Given the description of an element on the screen output the (x, y) to click on. 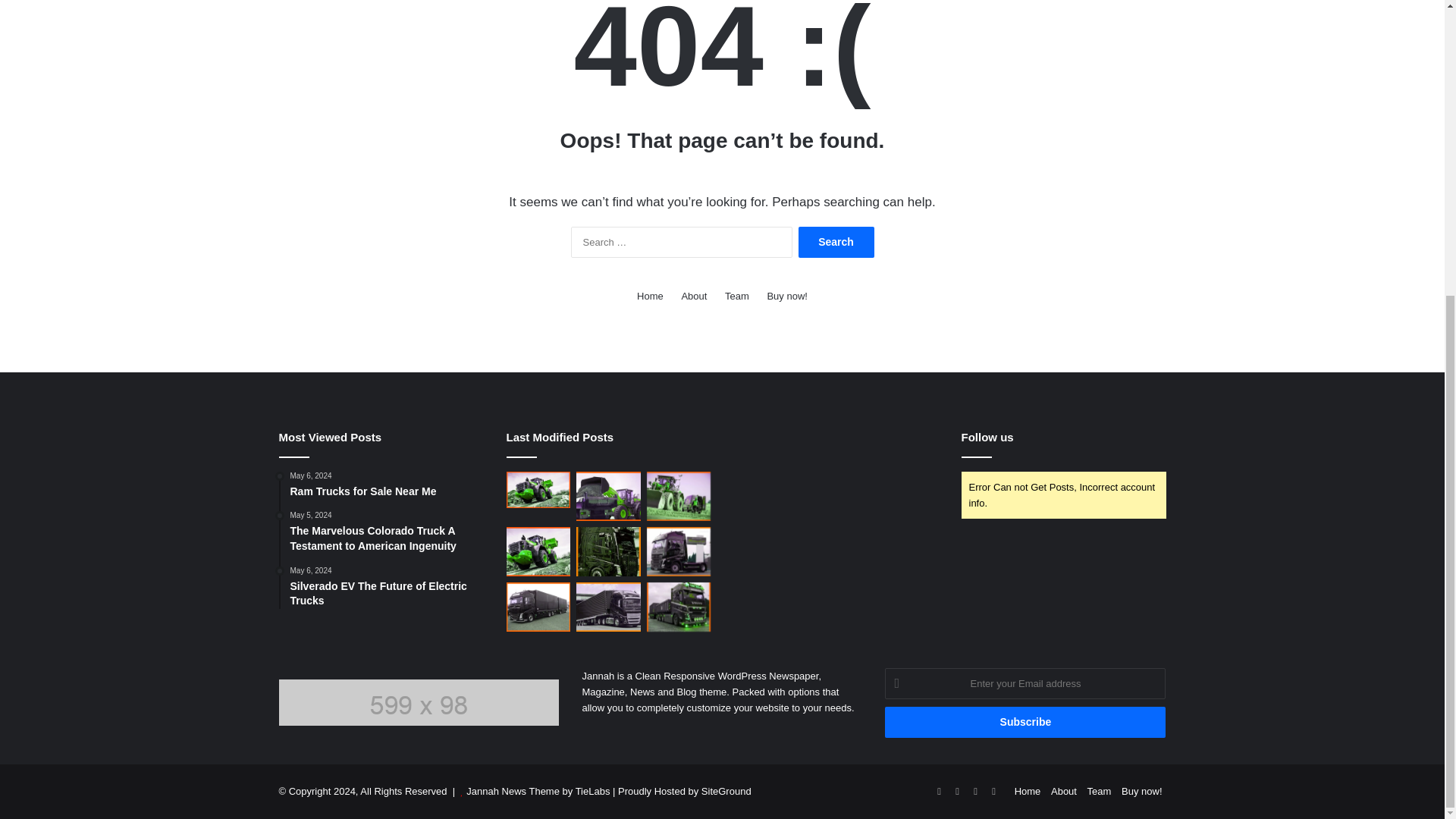
Search (835, 241)
Buy now! (1141, 790)
Search (835, 241)
Subscribe (1025, 721)
Buy now! (786, 295)
